Given the description of an element on the screen output the (x, y) to click on. 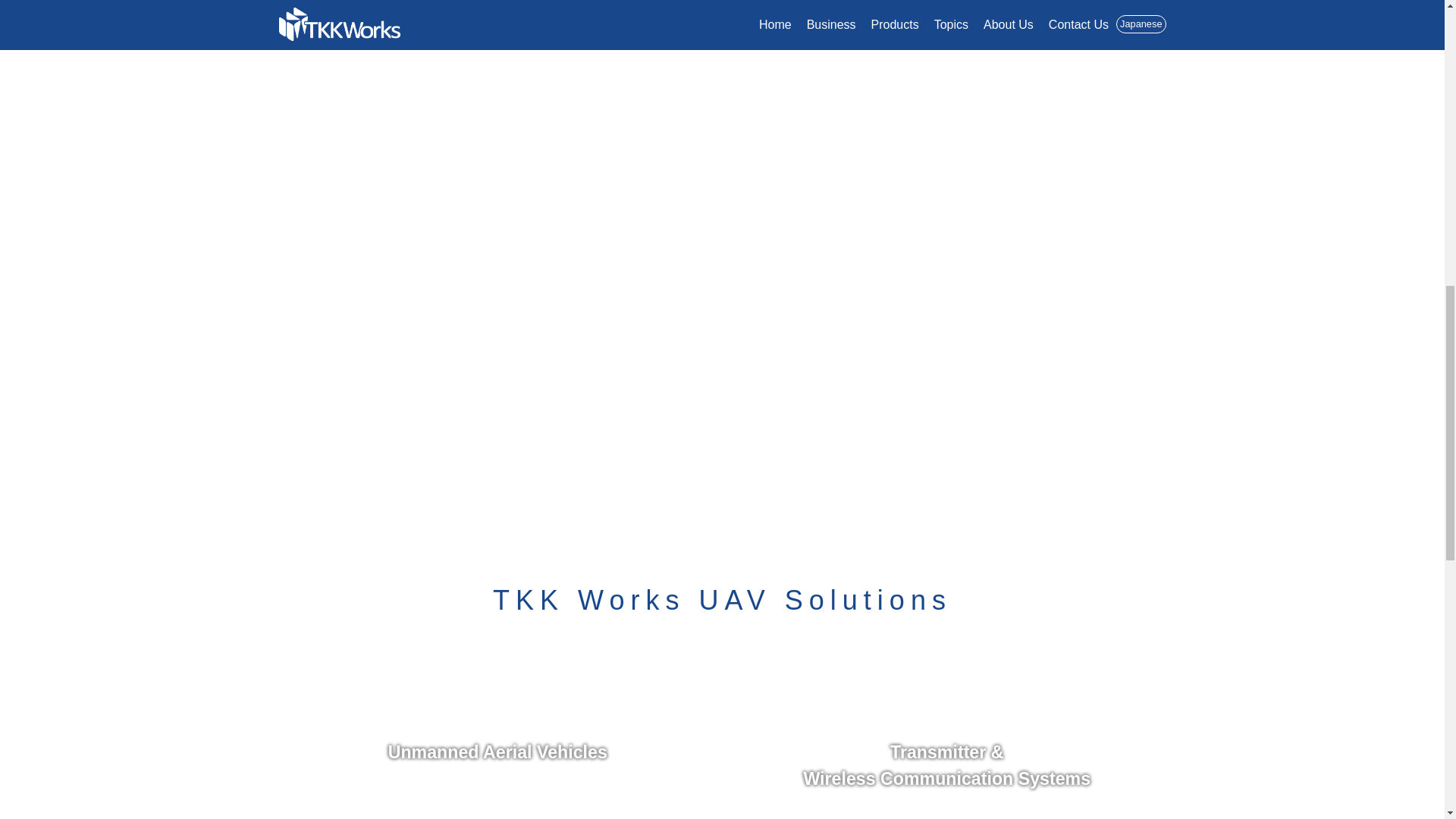
Unmanned Aerial Vehicles (498, 728)
